Given the description of an element on the screen output the (x, y) to click on. 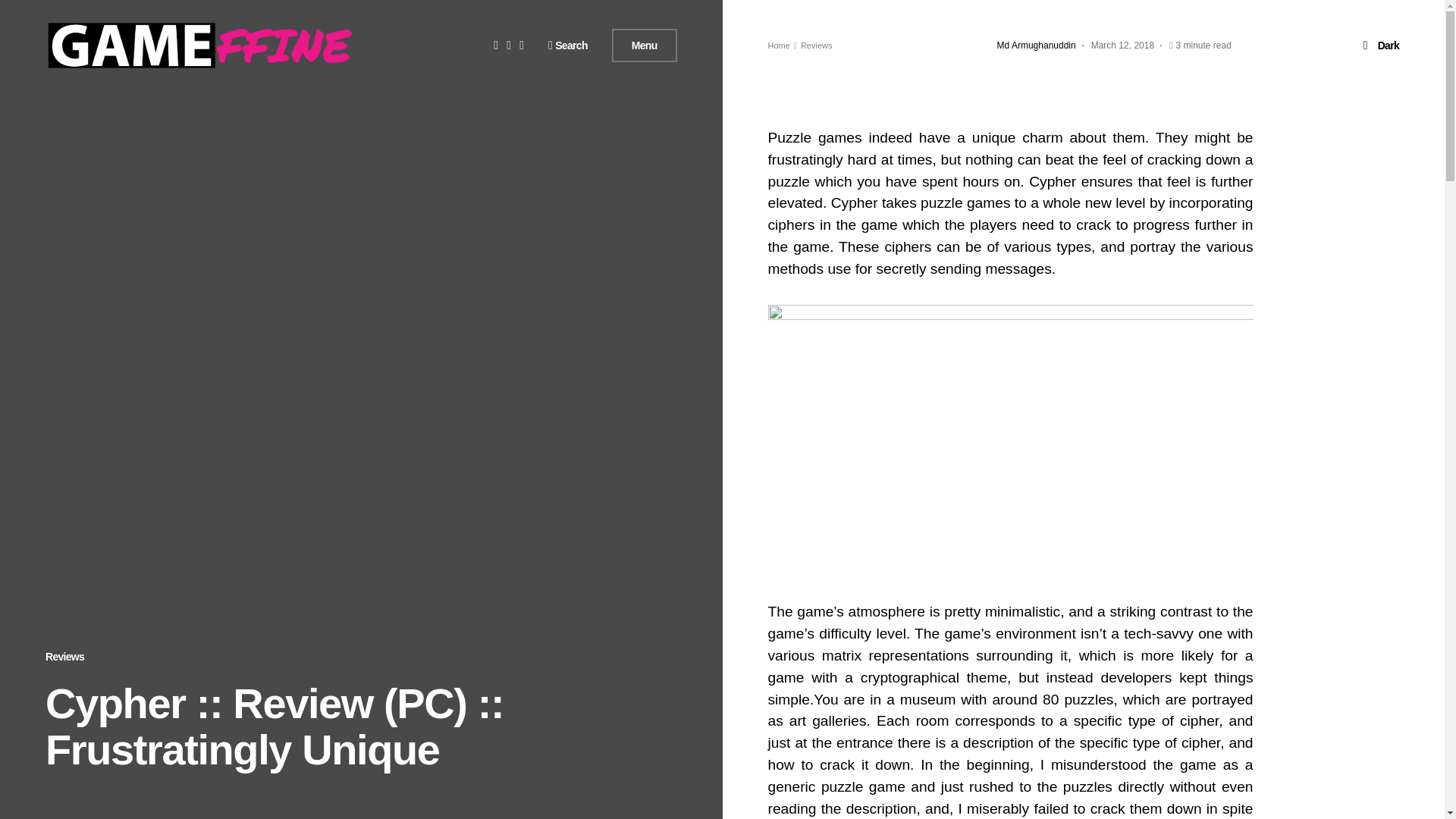
View all posts by Md Armughanuddin (1036, 45)
Reviews (64, 656)
